Given the description of an element on the screen output the (x, y) to click on. 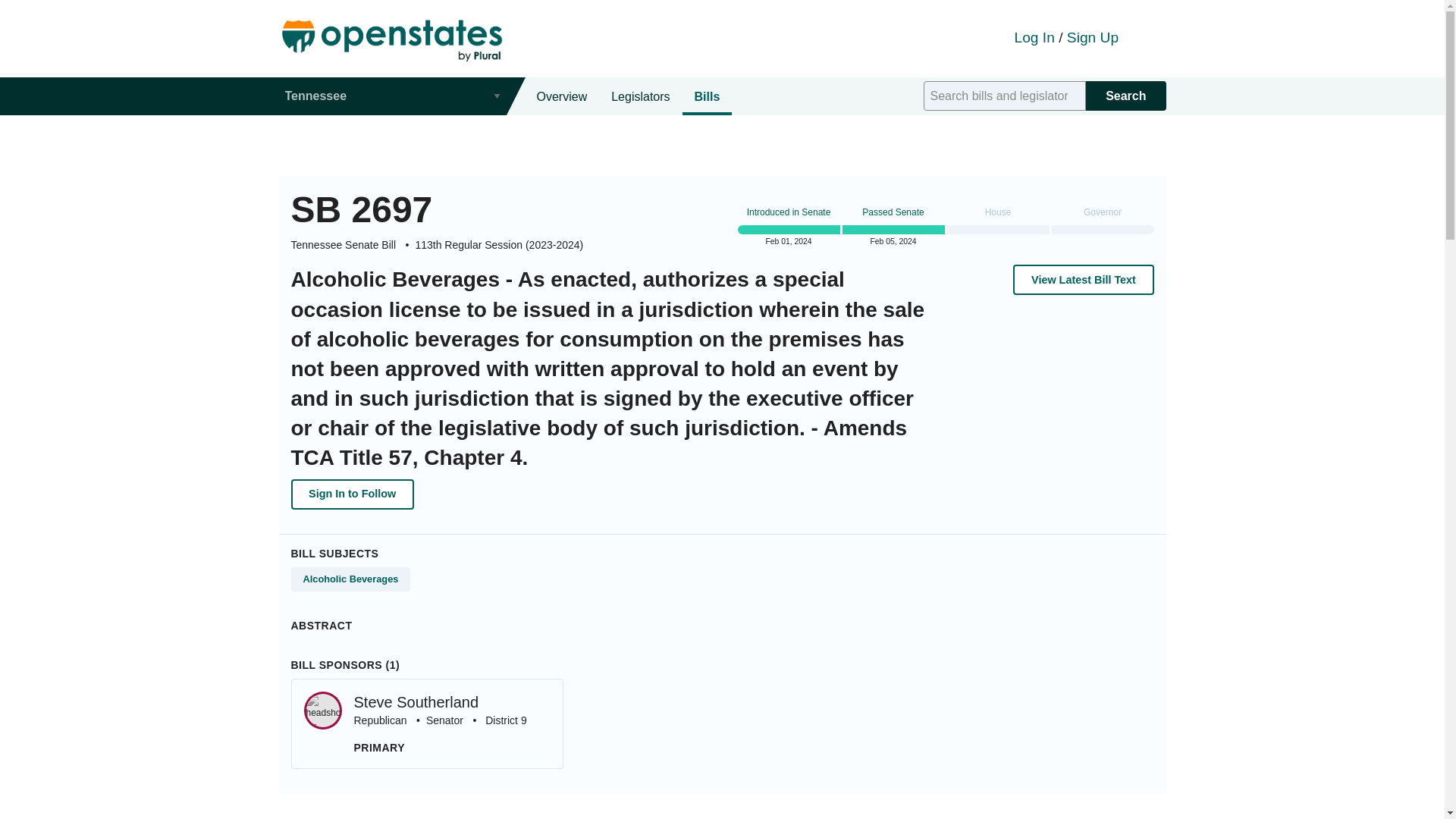
Bills (707, 95)
Sign In to Follow (352, 494)
Log In (1034, 37)
Overview (561, 95)
Legislators (639, 95)
View Latest Bill Text (1083, 279)
Alcoholic Beverages (350, 579)
Sign Up (427, 723)
Search (1092, 37)
